Given the description of an element on the screen output the (x, y) to click on. 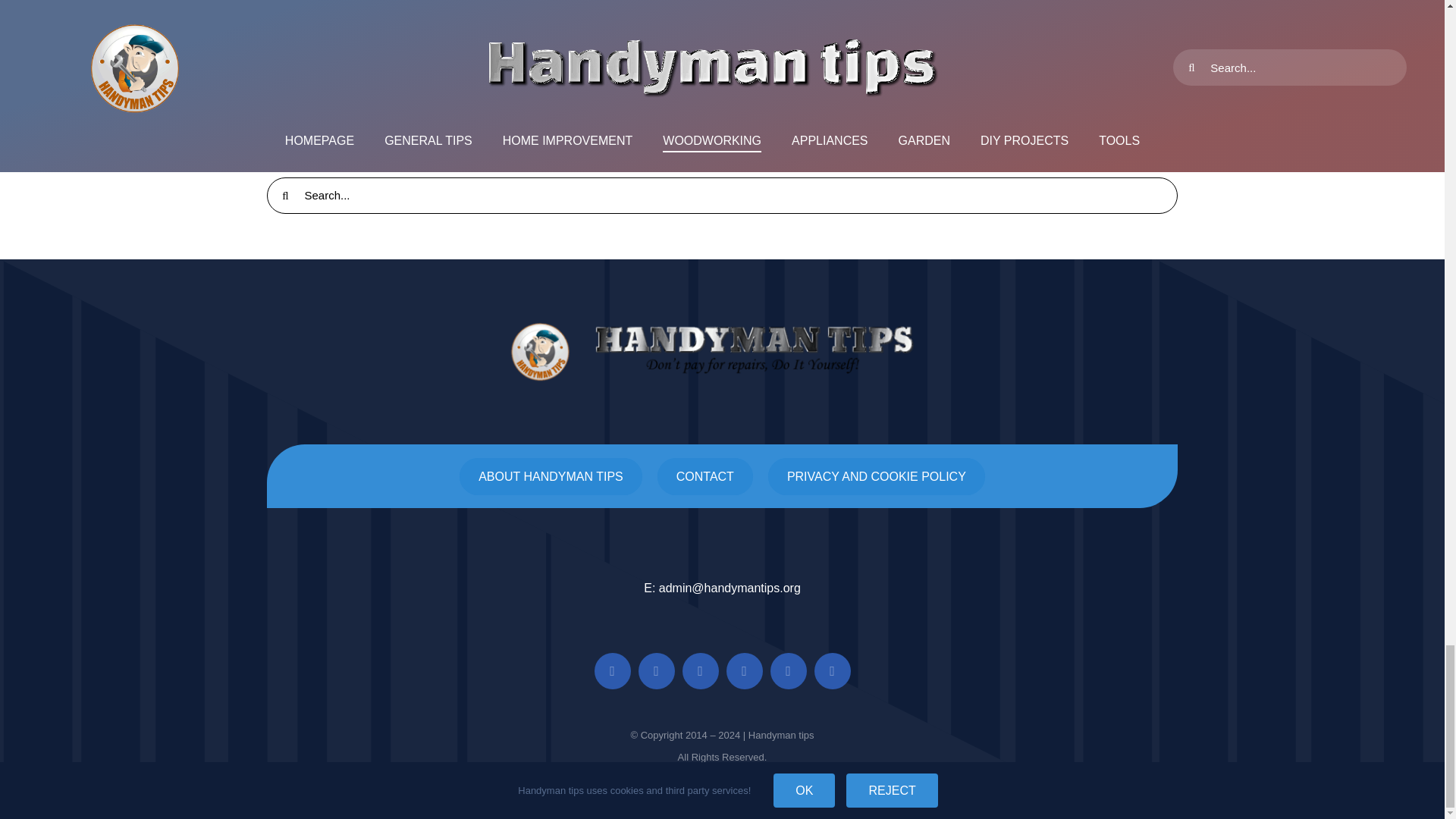
PRIVACY AND COOKIE POLICY (876, 476)
ABOUT HANDYMAN TIPS (551, 476)
Post Comment (337, 72)
yes (274, 32)
CONTACT (705, 476)
Post Comment (337, 72)
